Given the description of an element on the screen output the (x, y) to click on. 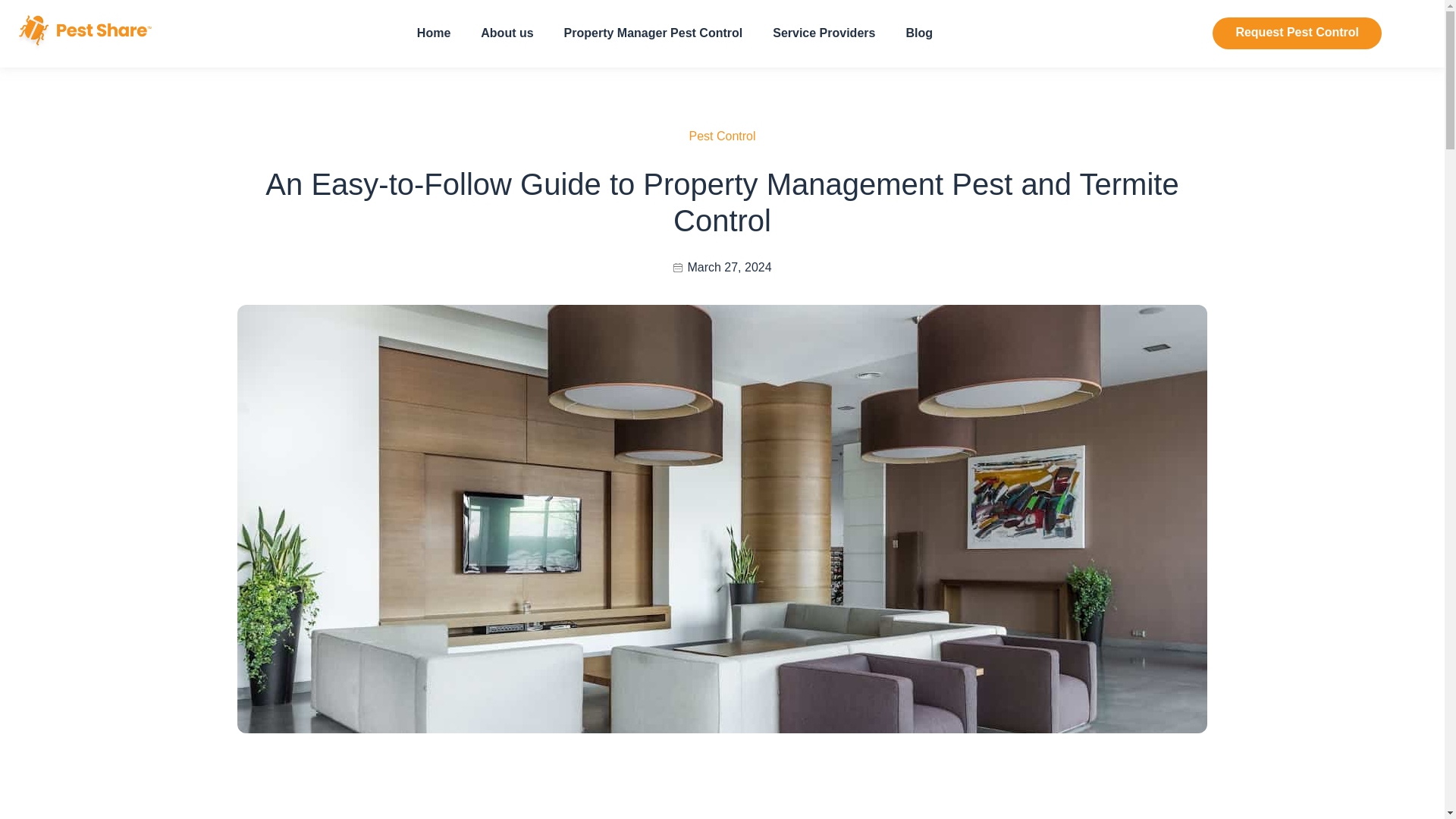
Service Providers (823, 32)
Home (433, 32)
Blog (918, 32)
About us (506, 32)
Pest Control (721, 135)
March 27, 2024 (721, 267)
Property Manager Pest Control (653, 32)
Request Pest Control (1296, 33)
